Given the description of an element on the screen output the (x, y) to click on. 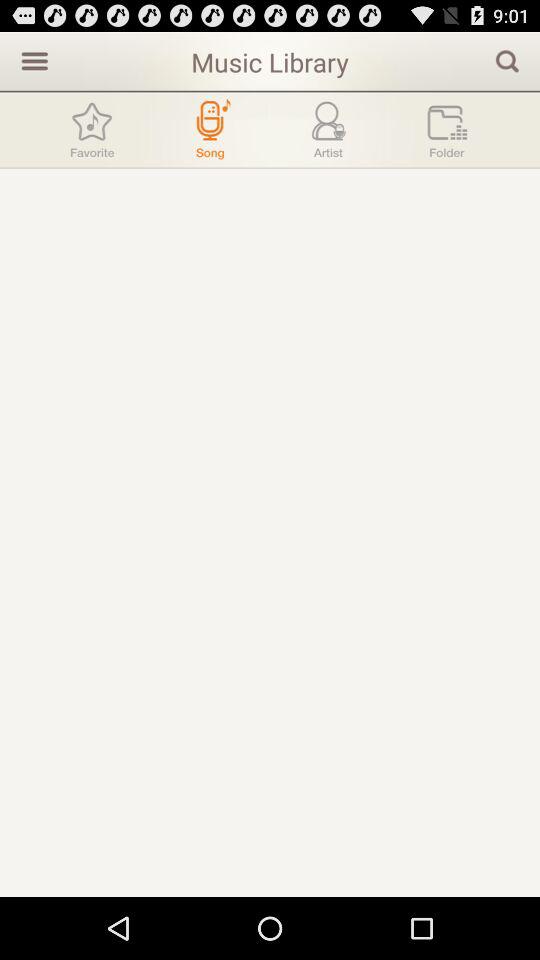
folder (447, 129)
